Given the description of an element on the screen output the (x, y) to click on. 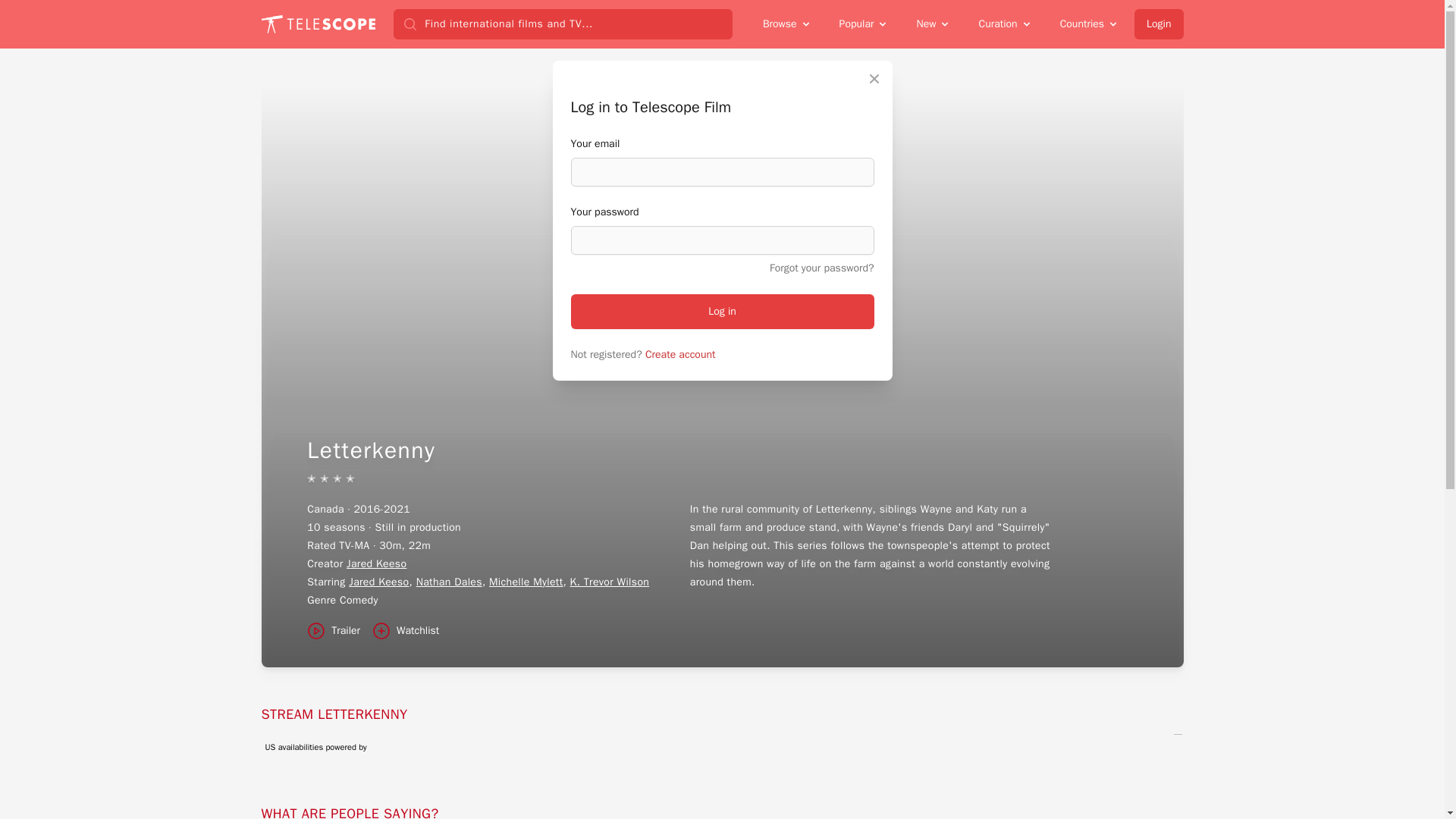
Browse (787, 24)
Countries (1089, 24)
Curation (1004, 24)
Log in (721, 311)
New (933, 24)
Popular (864, 24)
